Given the description of an element on the screen output the (x, y) to click on. 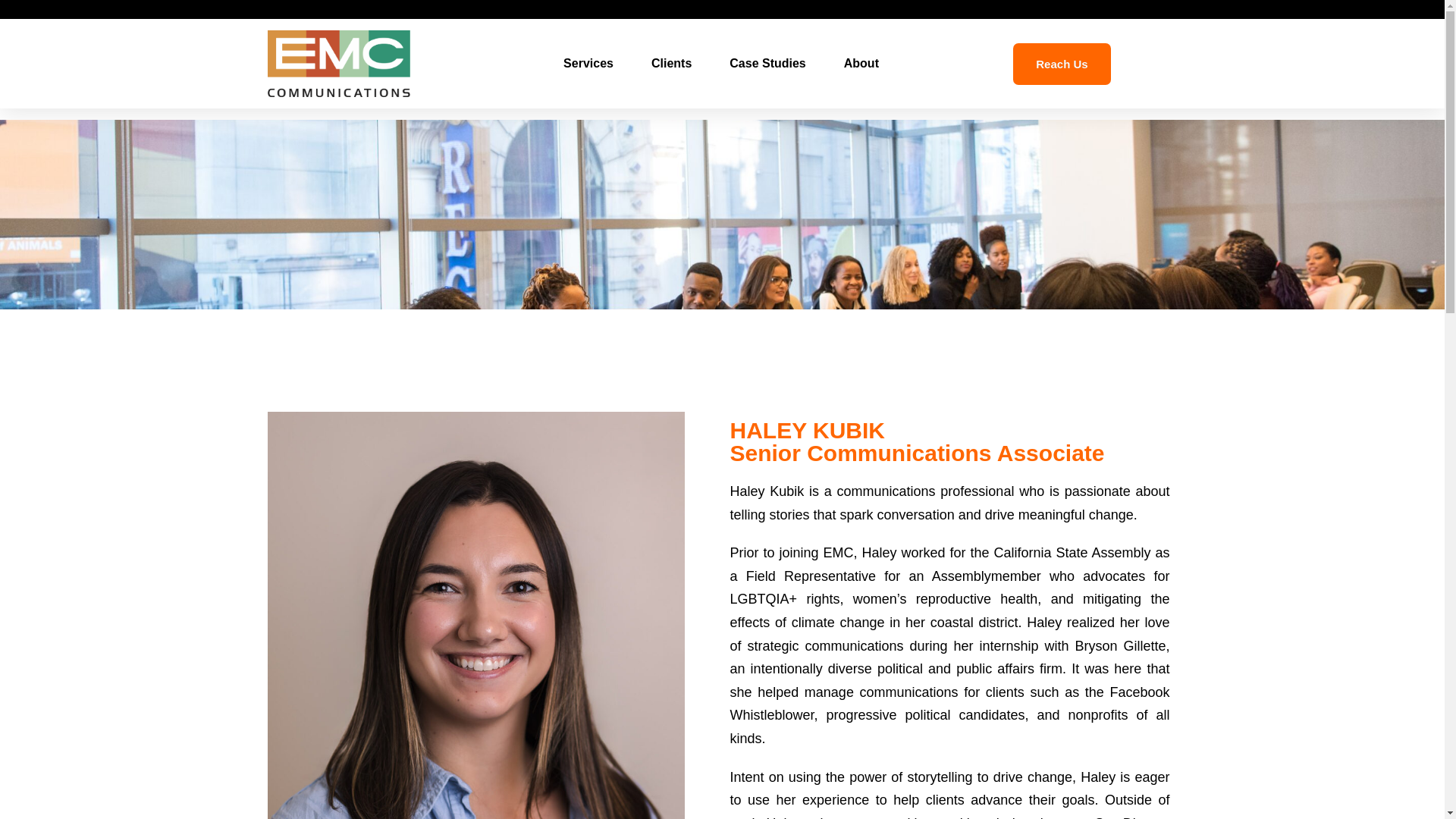
Skip to content (11, 31)
Case Studies (767, 63)
About (861, 63)
Clients (670, 63)
Reach Us (1061, 63)
Services (587, 63)
